Given the description of an element on the screen output the (x, y) to click on. 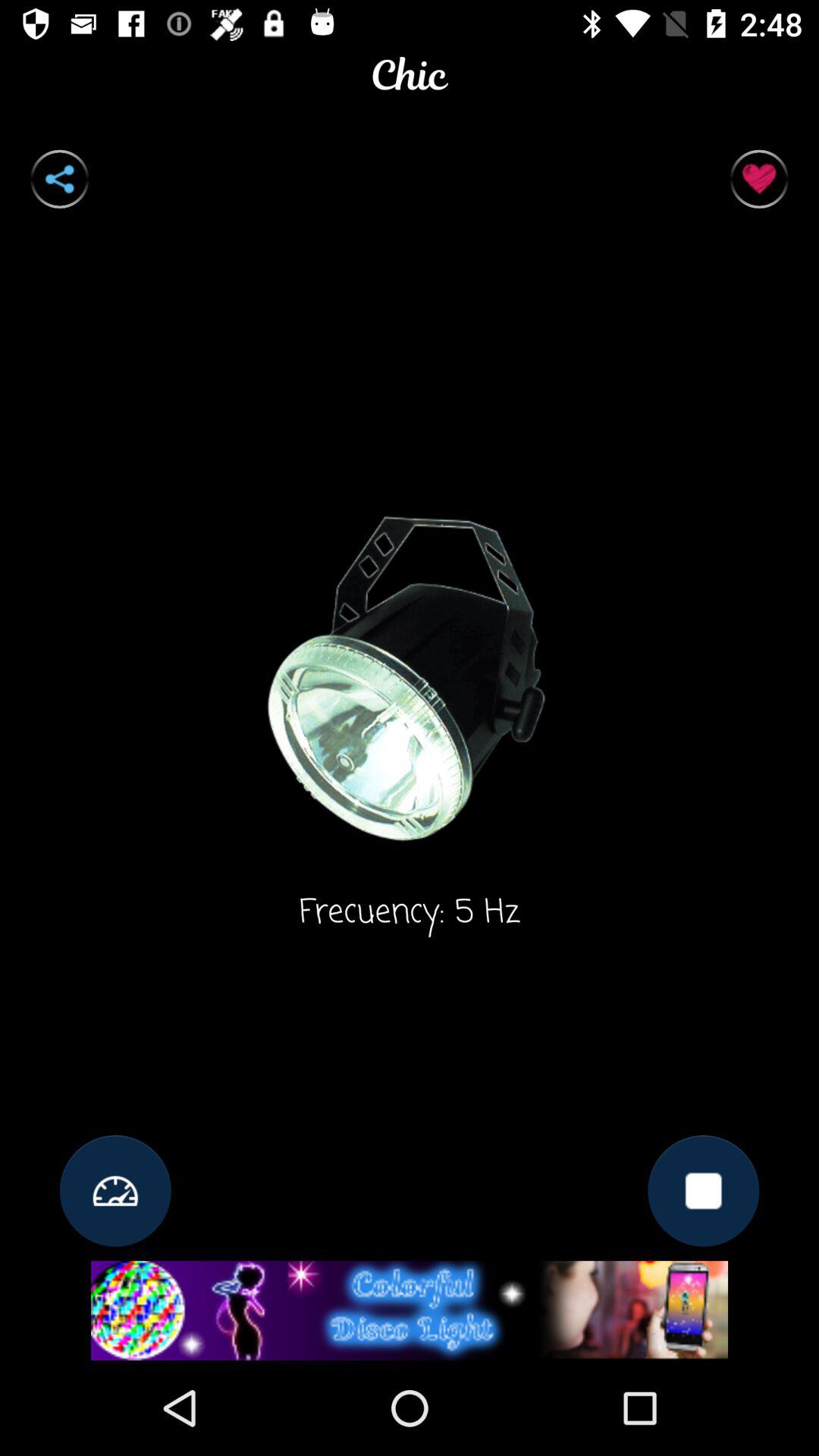
sharing function (59, 178)
